Given the description of an element on the screen output the (x, y) to click on. 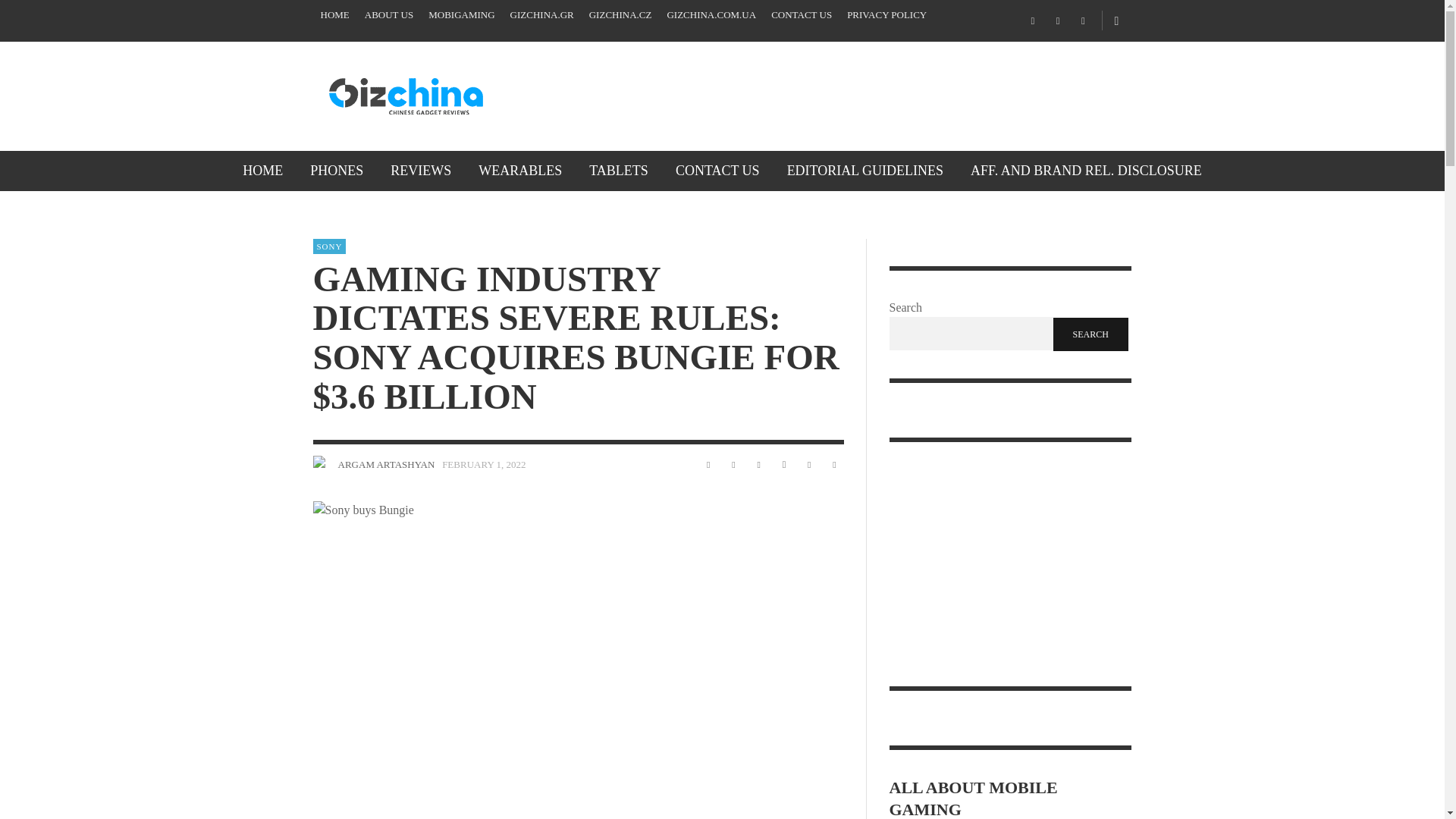
REVIEWS (420, 170)
PRIVACY POLICY (887, 15)
CONTACT US (801, 15)
GIZCHINA.GR (541, 15)
HOME (262, 170)
GIZCHINA.CZ (619, 15)
PHONES (337, 170)
ABOUT US (388, 15)
GIZCHINA.COM.UA (710, 15)
HOME (334, 15)
